Given the description of an element on the screen output the (x, y) to click on. 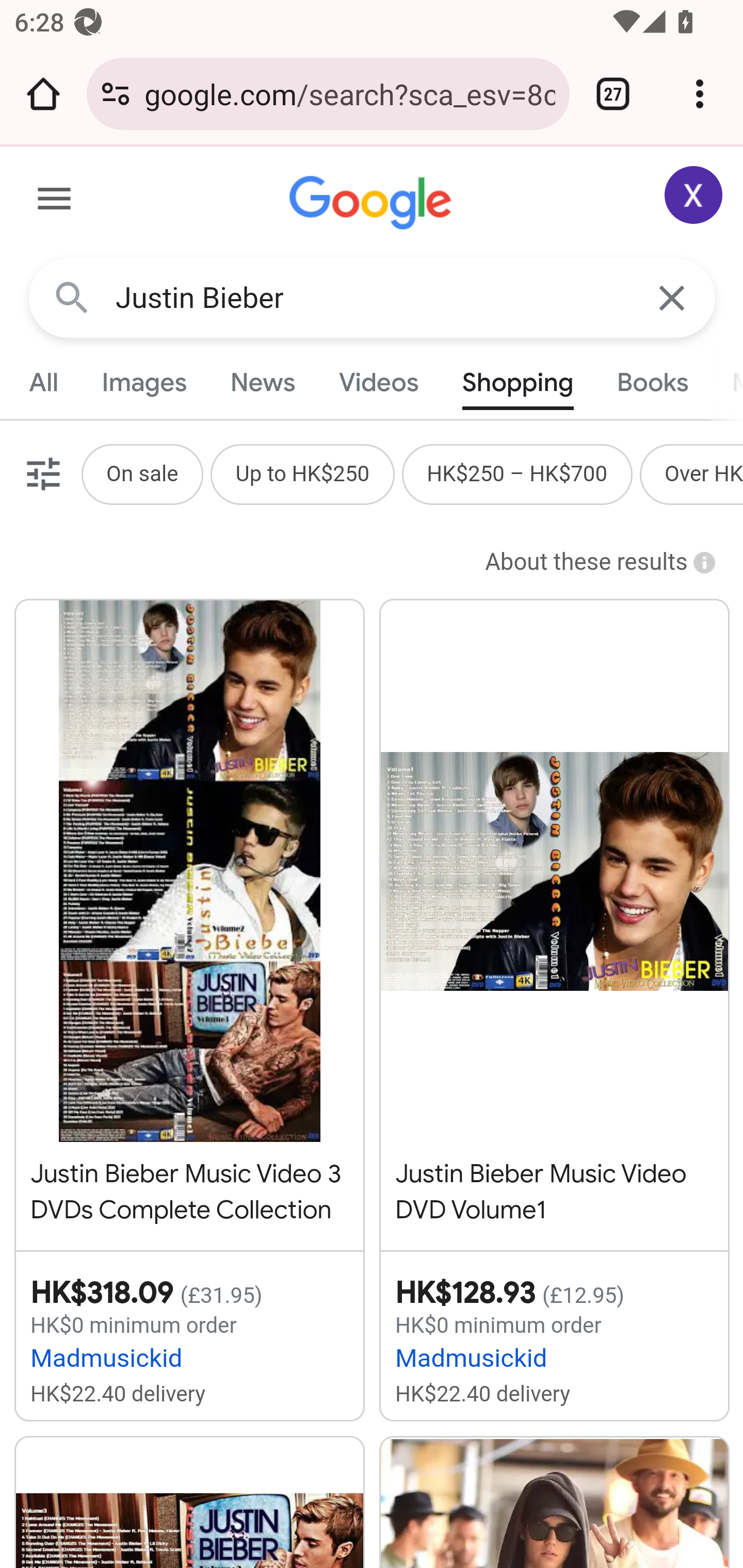
Open the home page (43, 93)
Connection is secure (115, 93)
Switch or close tabs (612, 93)
Customize and control Google Chrome (699, 93)
Main menu (54, 202)
Google (372, 203)
Google Account: Xiaoran (zxrappiumtest@gmail.com) (694, 195)
Google Search (71, 296)
Clear Search (672, 296)
Justin Bieber (372, 297)
All (43, 382)
Images (144, 382)
News (262, 382)
Videos (378, 382)
Books (652, 382)
Filters.0 filters applied. (41, 473)
On sale (141, 473)
Up to HK$250 (302, 473)
HK$250 – HK$700 (517, 473)
Over HK$700 (703, 473)
Justin Bieber Music Video DVD Volume1 (553, 913)
